Given the description of an element on the screen output the (x, y) to click on. 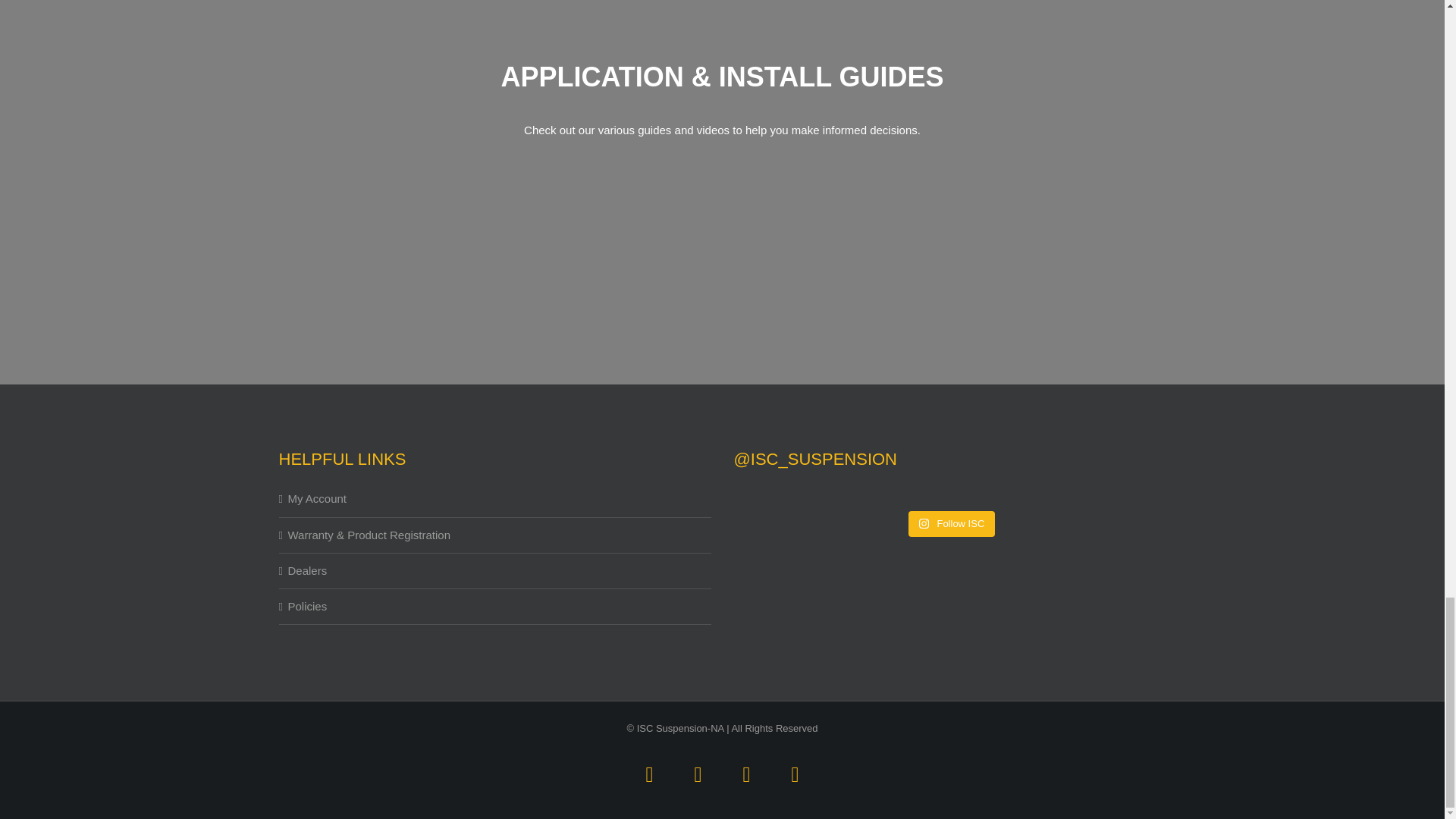
Facebook (648, 774)
Twitter (698, 774)
Instagram (746, 774)
